Given the description of an element on the screen output the (x, y) to click on. 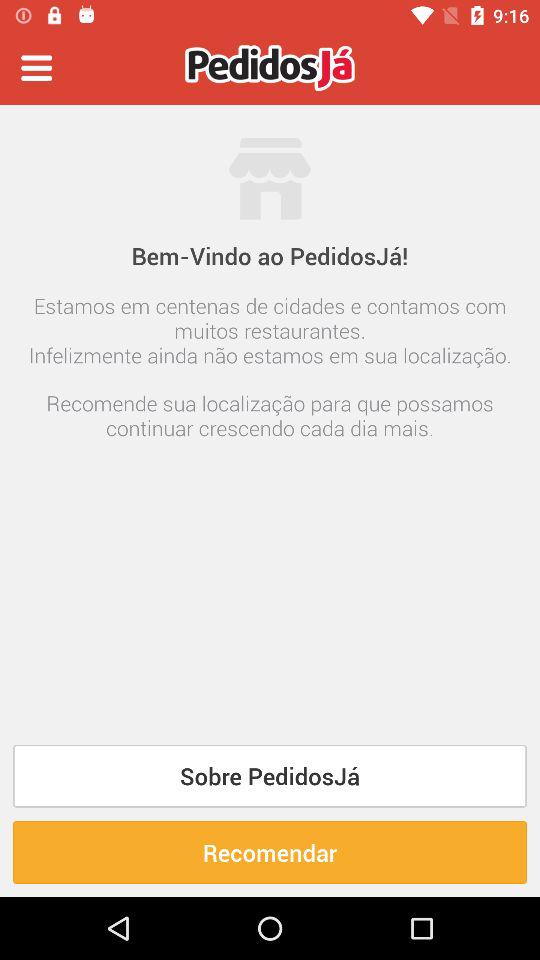
tap item above bem vindo ao item (36, 68)
